Given the description of an element on the screen output the (x, y) to click on. 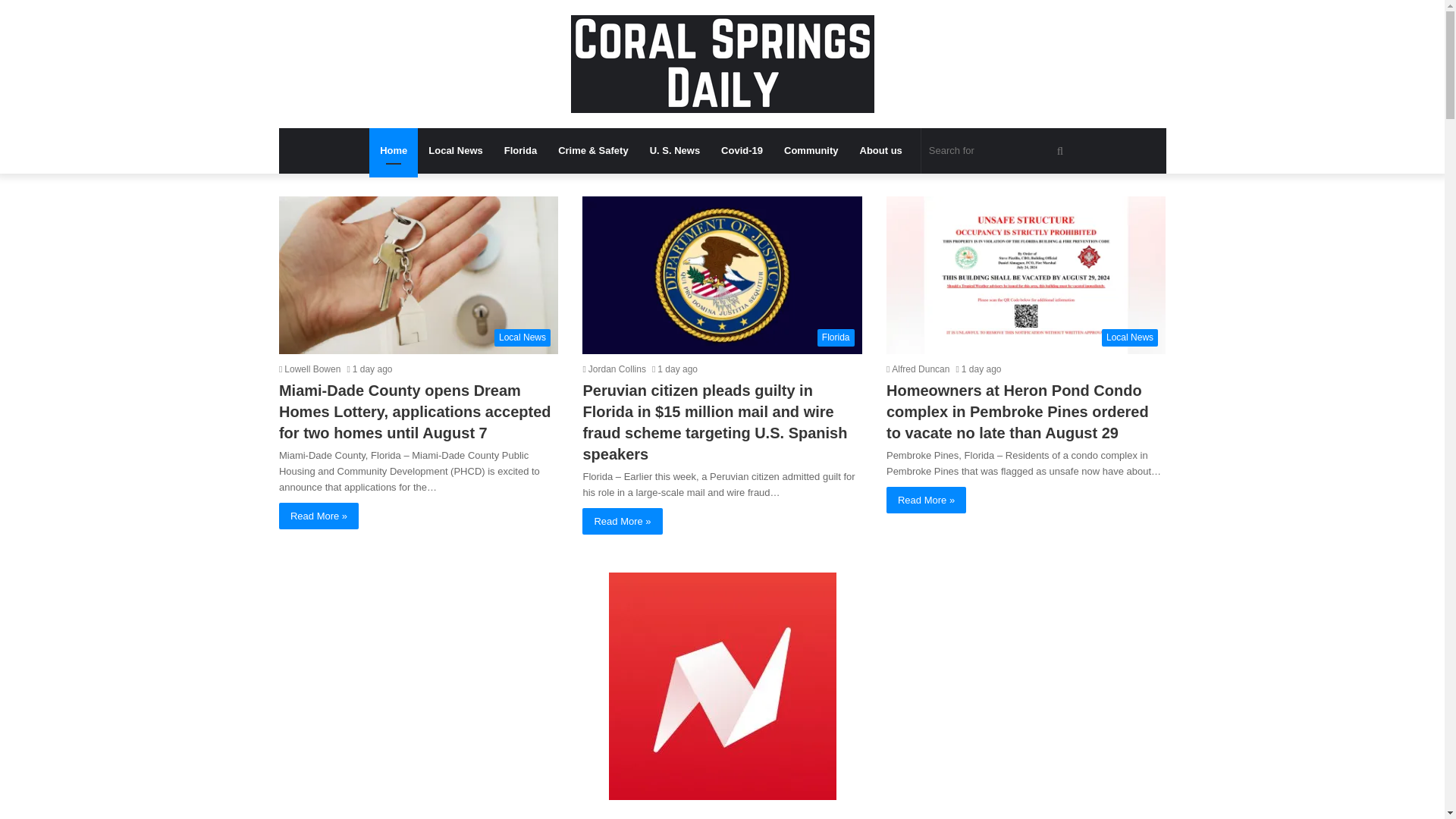
Lowell Bowen (309, 368)
U. S. News (674, 150)
Alfred Duncan (917, 368)
Local News (1026, 274)
Community (810, 150)
Lowell Bowen (309, 368)
Alfred Duncan (917, 368)
Search for (998, 150)
Florida (721, 274)
Coral Springs Daily (721, 64)
Local News (455, 150)
Local News (418, 274)
